Given the description of an element on the screen output the (x, y) to click on. 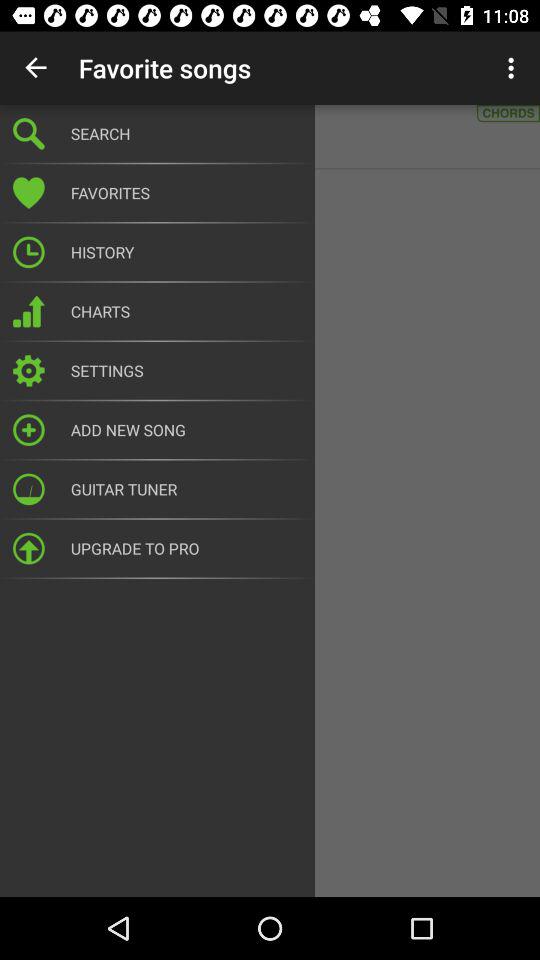
turn off guitar tuner icon (185, 489)
